Given the description of an element on the screen output the (x, y) to click on. 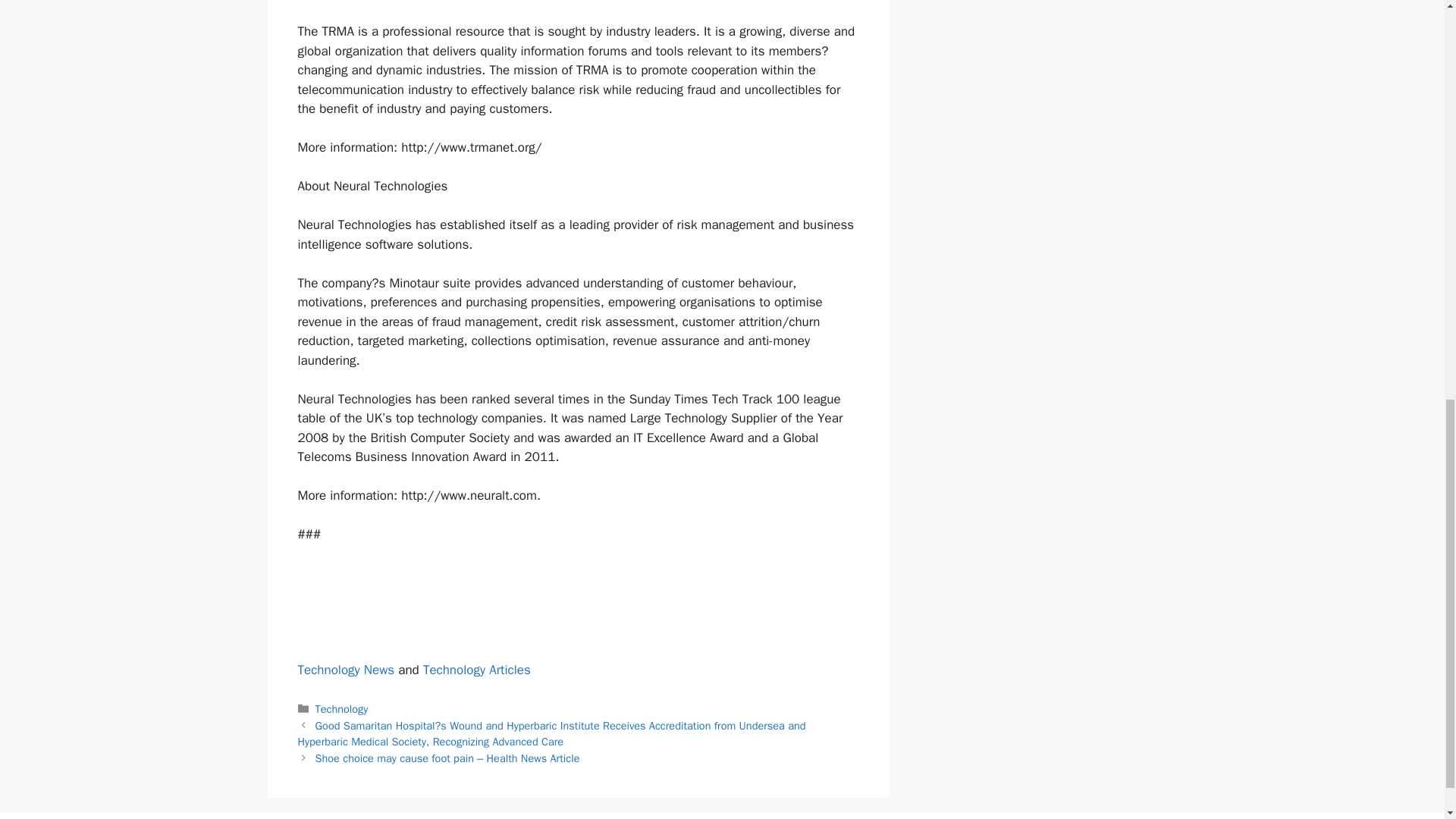
Technology Articles (477, 669)
Technology (341, 708)
Technology News (345, 669)
